Given the description of an element on the screen output the (x, y) to click on. 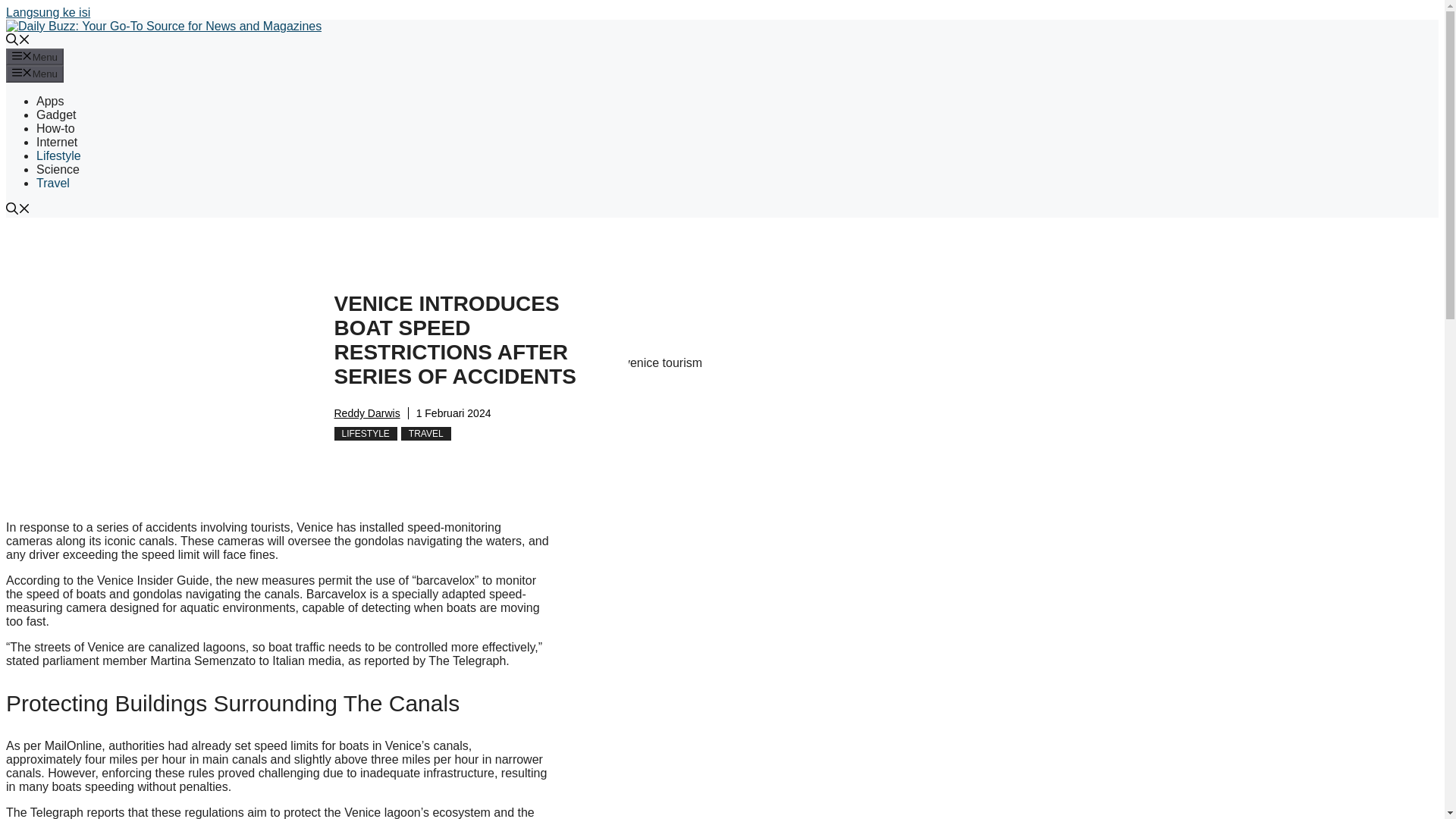
Science (58, 169)
Gadget (55, 114)
Langsung ke isi (47, 11)
Menu (34, 56)
Menu (34, 73)
Travel (52, 182)
LIFESTYLE (364, 433)
How-to (55, 128)
Apps (50, 101)
Internet (56, 141)
Langsung ke isi (47, 11)
TRAVEL (426, 433)
Reddy Darwis (365, 413)
Lifestyle (58, 155)
